Given the description of an element on the screen output the (x, y) to click on. 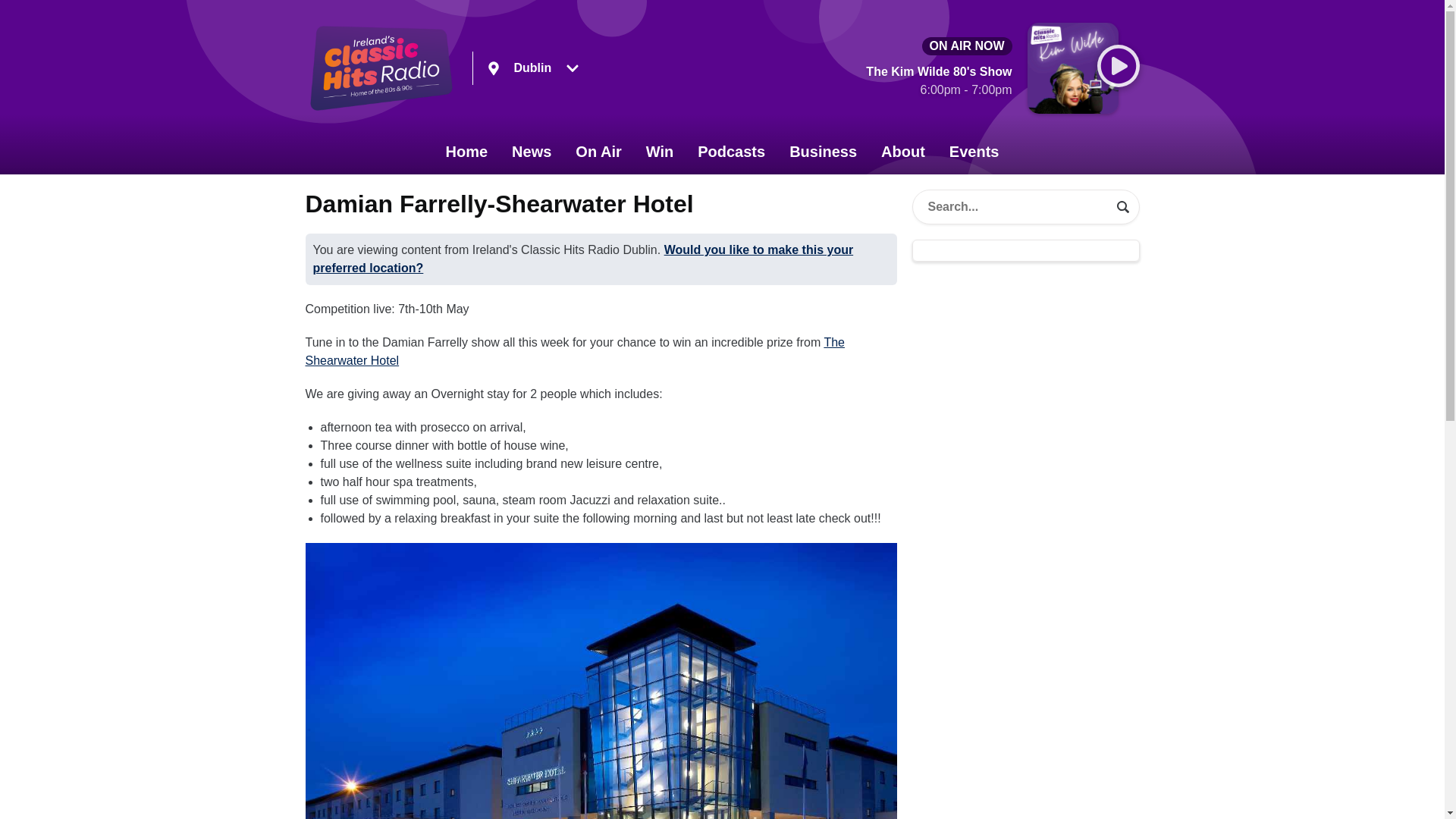
Dublin (532, 68)
About (903, 151)
Win (659, 151)
Home (466, 151)
The Kim Wilde 80's Show (938, 83)
Podcasts (731, 151)
Business (823, 151)
On Air (598, 151)
News (531, 151)
